Given the description of an element on the screen output the (x, y) to click on. 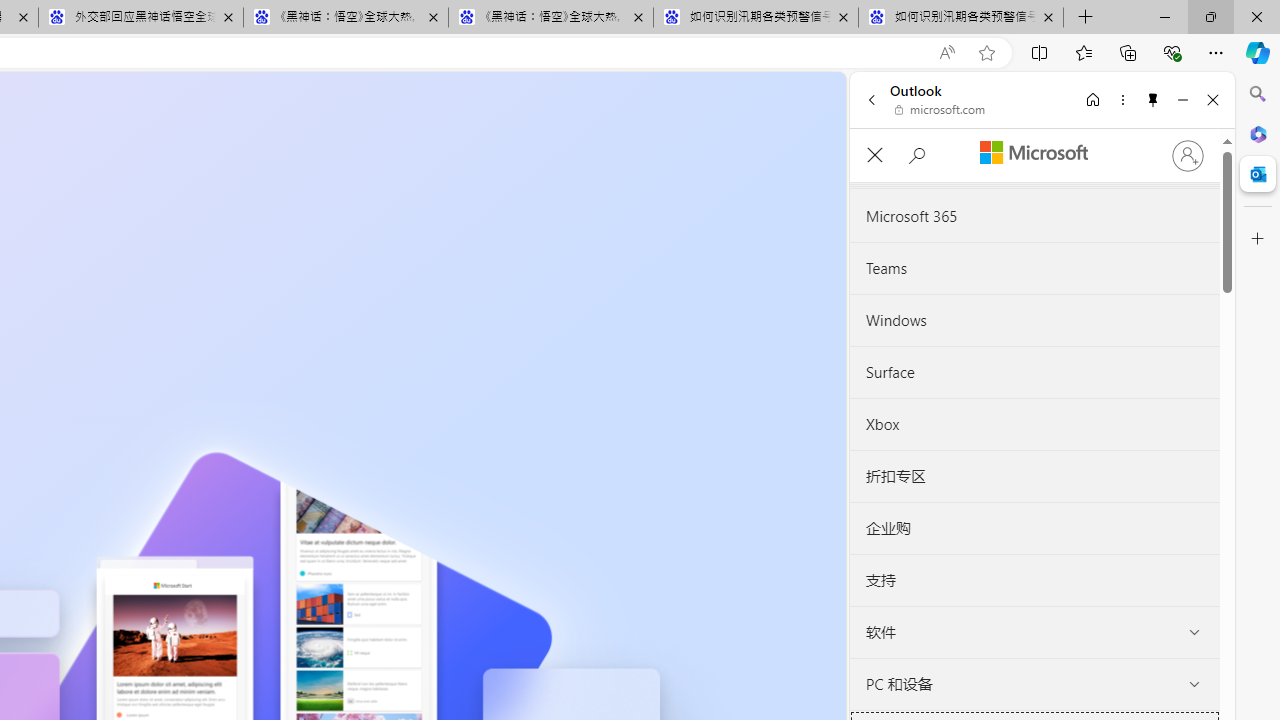
Surface (1034, 372)
Xbox (1034, 424)
